Given the description of an element on the screen output the (x, y) to click on. 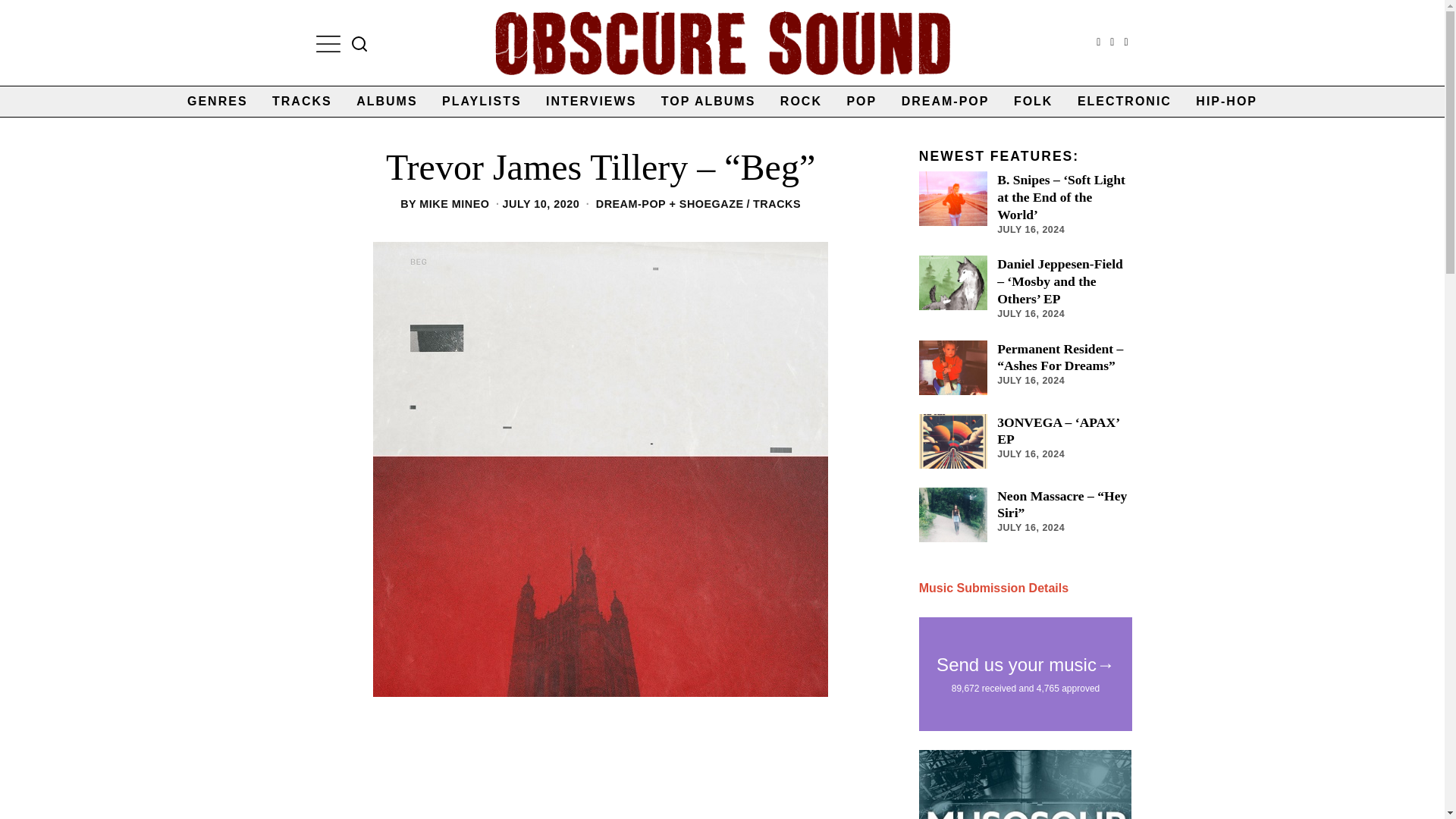
INTERVIEWS (590, 101)
ELECTRONIC (1124, 101)
ROCK (801, 101)
TOP ALBUMS (708, 101)
TRACKS (776, 203)
PLAYLISTS (481, 101)
FOLK (1033, 101)
HIP-HOP (1226, 101)
MIKE MINEO (454, 203)
ALBUMS (387, 101)
POP (860, 101)
GENRES (217, 101)
Send music (993, 587)
TRACKS (302, 101)
DREAM-POP (945, 101)
